Given the description of an element on the screen output the (x, y) to click on. 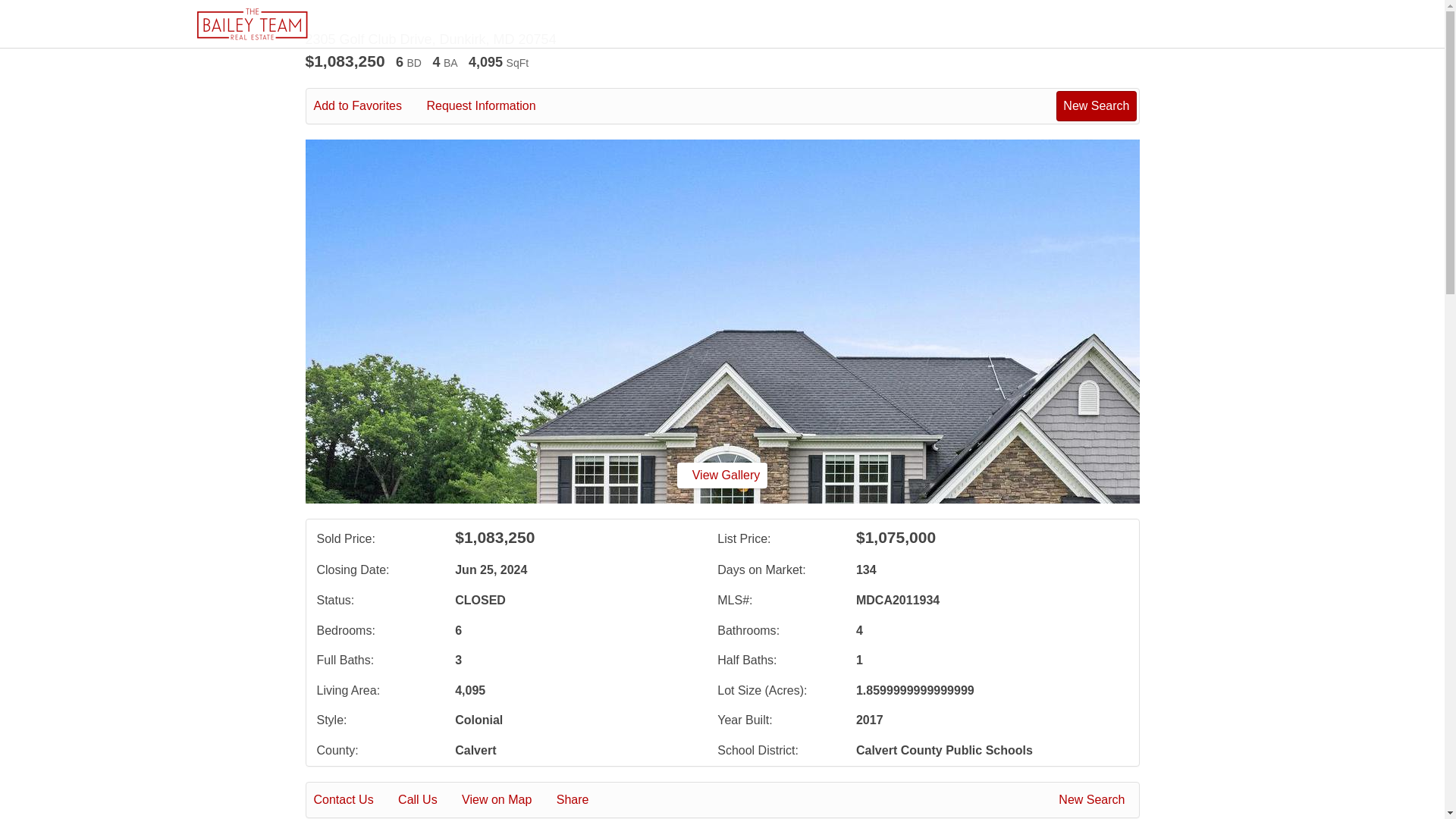
View on Map (507, 799)
New Search (1094, 799)
Call Us (427, 799)
View Gallery (722, 475)
Add to Favorites (368, 106)
Contact Us (354, 799)
Share (583, 799)
View Gallery (722, 474)
Request Information (491, 106)
New Search (1096, 105)
